Given the description of an element on the screen output the (x, y) to click on. 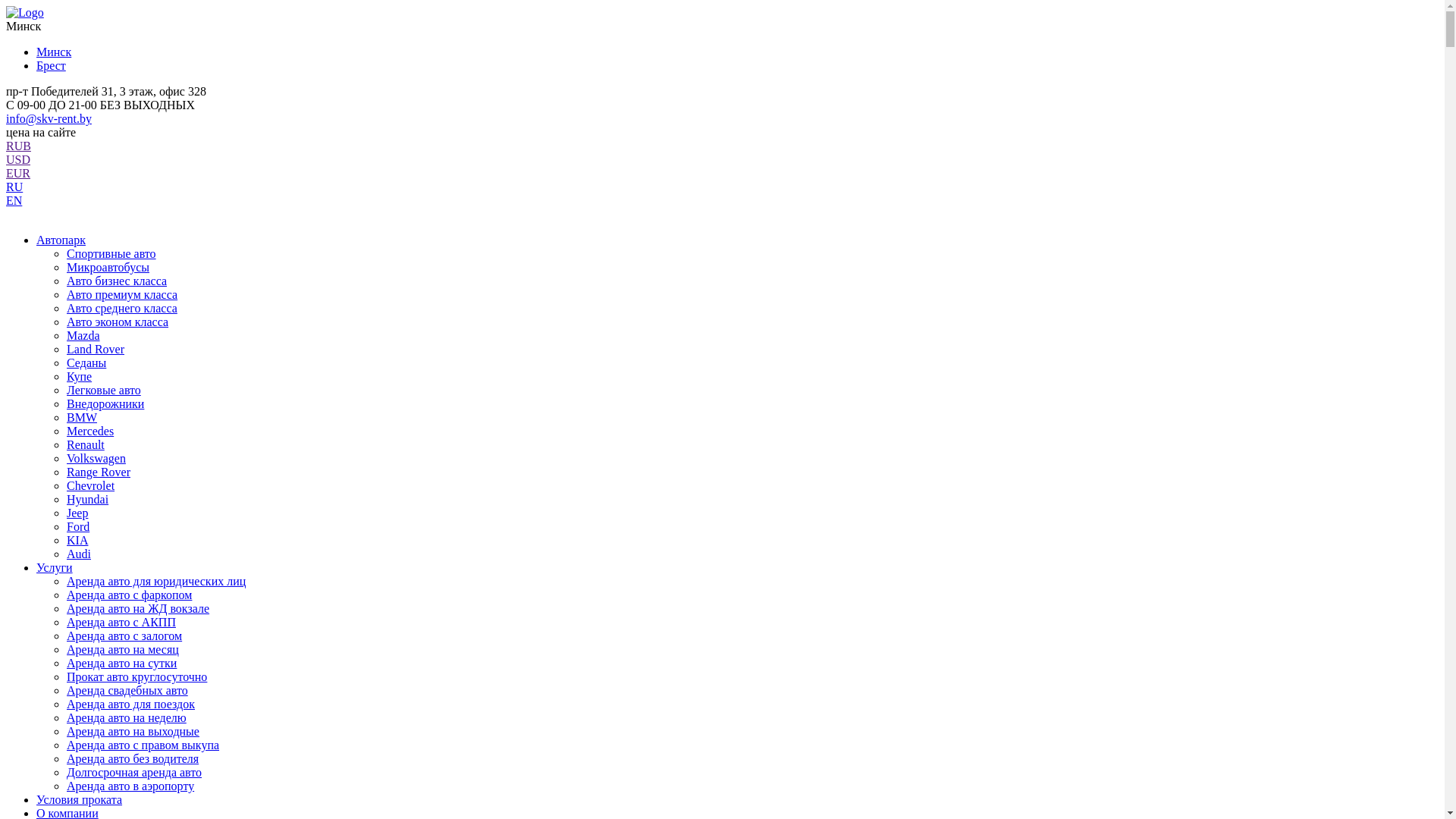
Mazda Element type: text (83, 335)
EN Element type: text (13, 200)
Jeep Element type: text (76, 512)
Volkswagen Element type: text (95, 457)
Chevrolet Element type: text (90, 485)
Range Rover Element type: text (98, 471)
Renault Element type: text (85, 444)
Land Rover Element type: text (95, 348)
Audi Element type: text (78, 553)
EUR Element type: text (18, 172)
info@skv-rent.by Element type: text (48, 118)
Ford Element type: text (77, 526)
Mercedes Element type: text (89, 430)
USD Element type: text (18, 159)
RU Element type: text (14, 186)
Hyundai Element type: text (87, 498)
RUB Element type: text (18, 145)
KIA Element type: text (76, 539)
BMW Element type: text (81, 417)
